Given the description of an element on the screen output the (x, y) to click on. 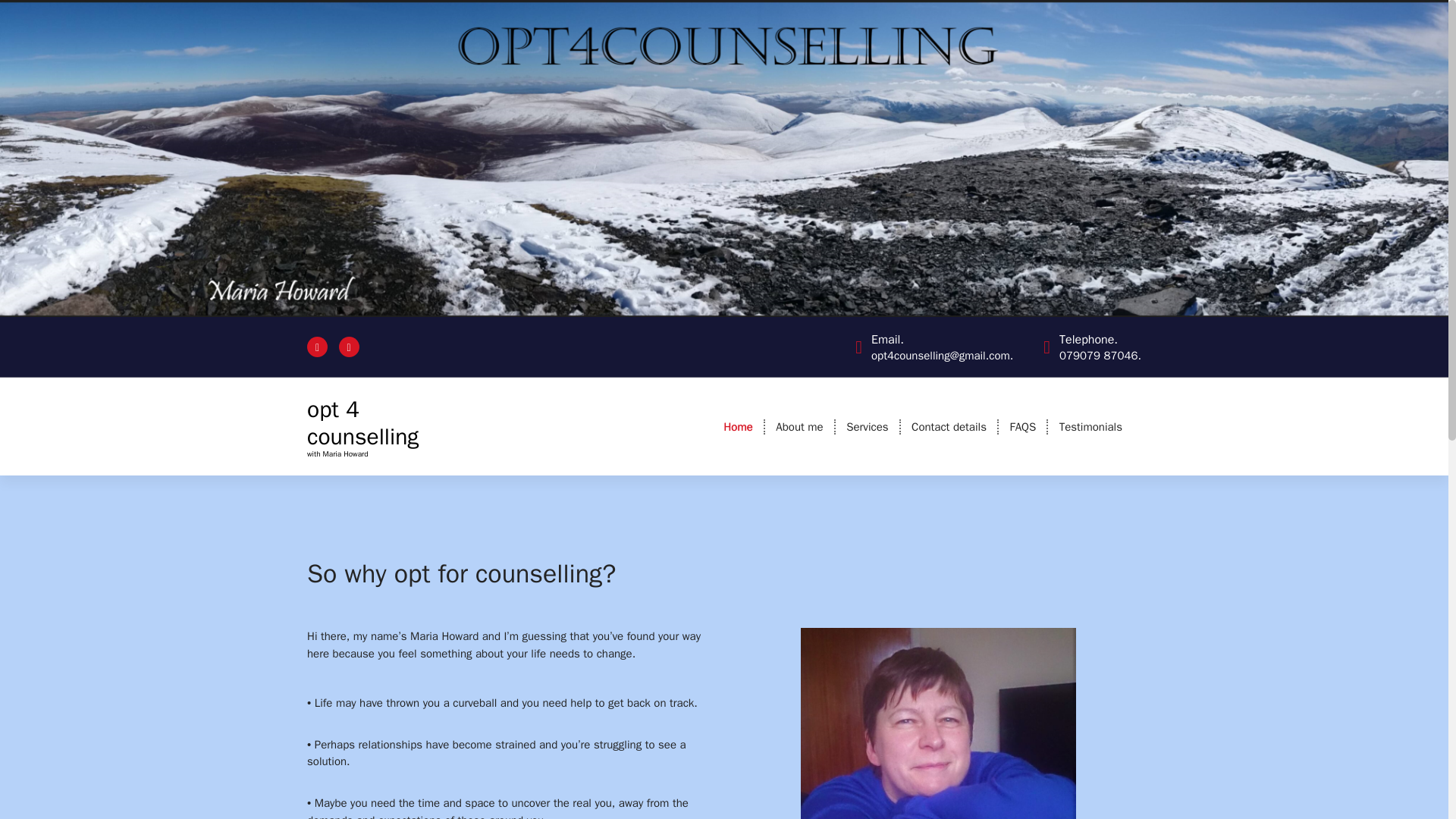
Home (737, 426)
FAQS (1022, 426)
FAQS (1022, 426)
About me (798, 426)
Services (866, 426)
Contact details (948, 426)
About me (798, 426)
opt 4 counselling (366, 422)
Services (866, 426)
Testimonials (1090, 426)
Testimonials (1090, 426)
Contact details (948, 426)
Home (737, 426)
